Given the description of an element on the screen output the (x, y) to click on. 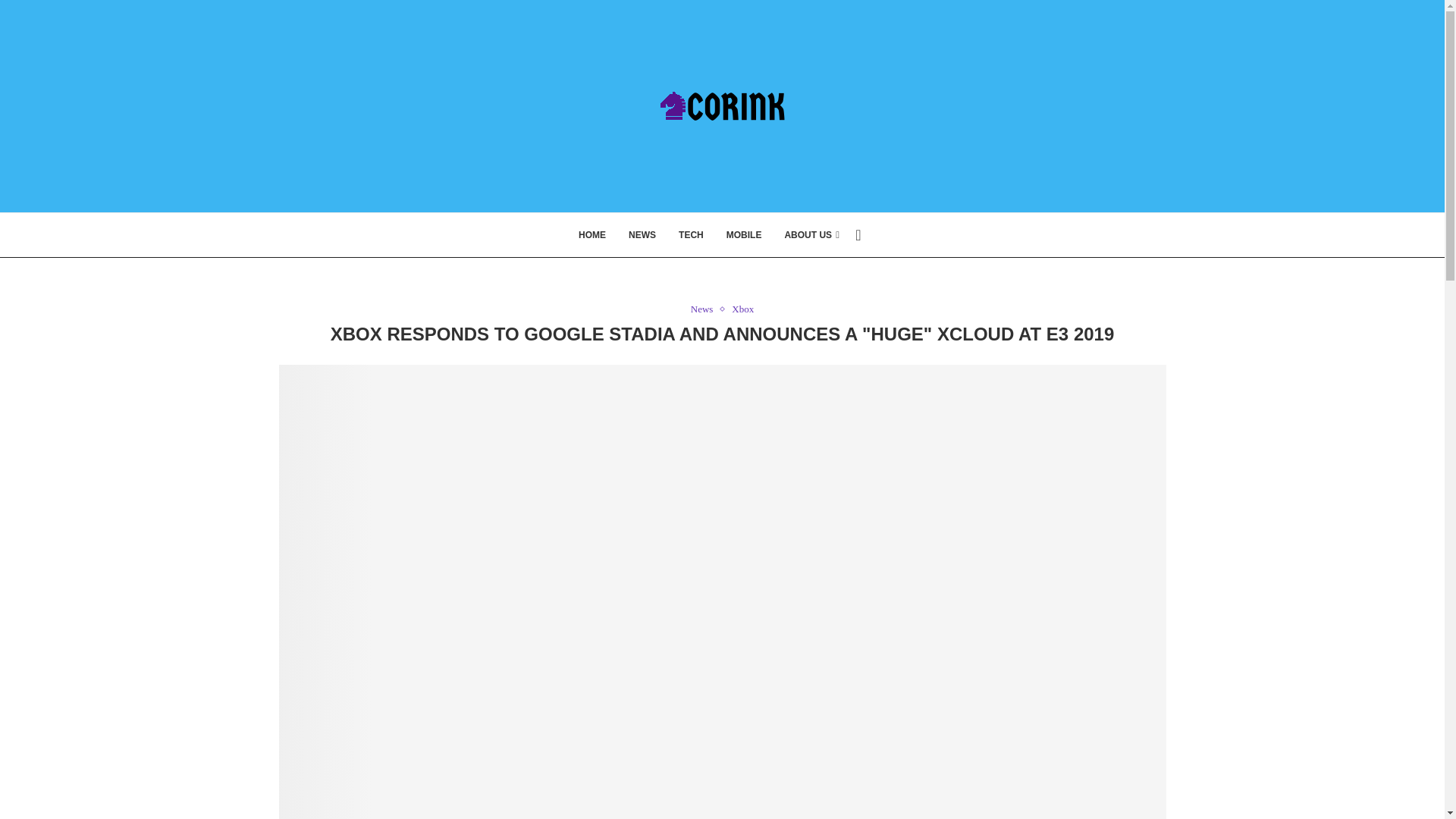
Xbox (743, 309)
ABOUT US (811, 234)
News (705, 309)
